Given the description of an element on the screen output the (x, y) to click on. 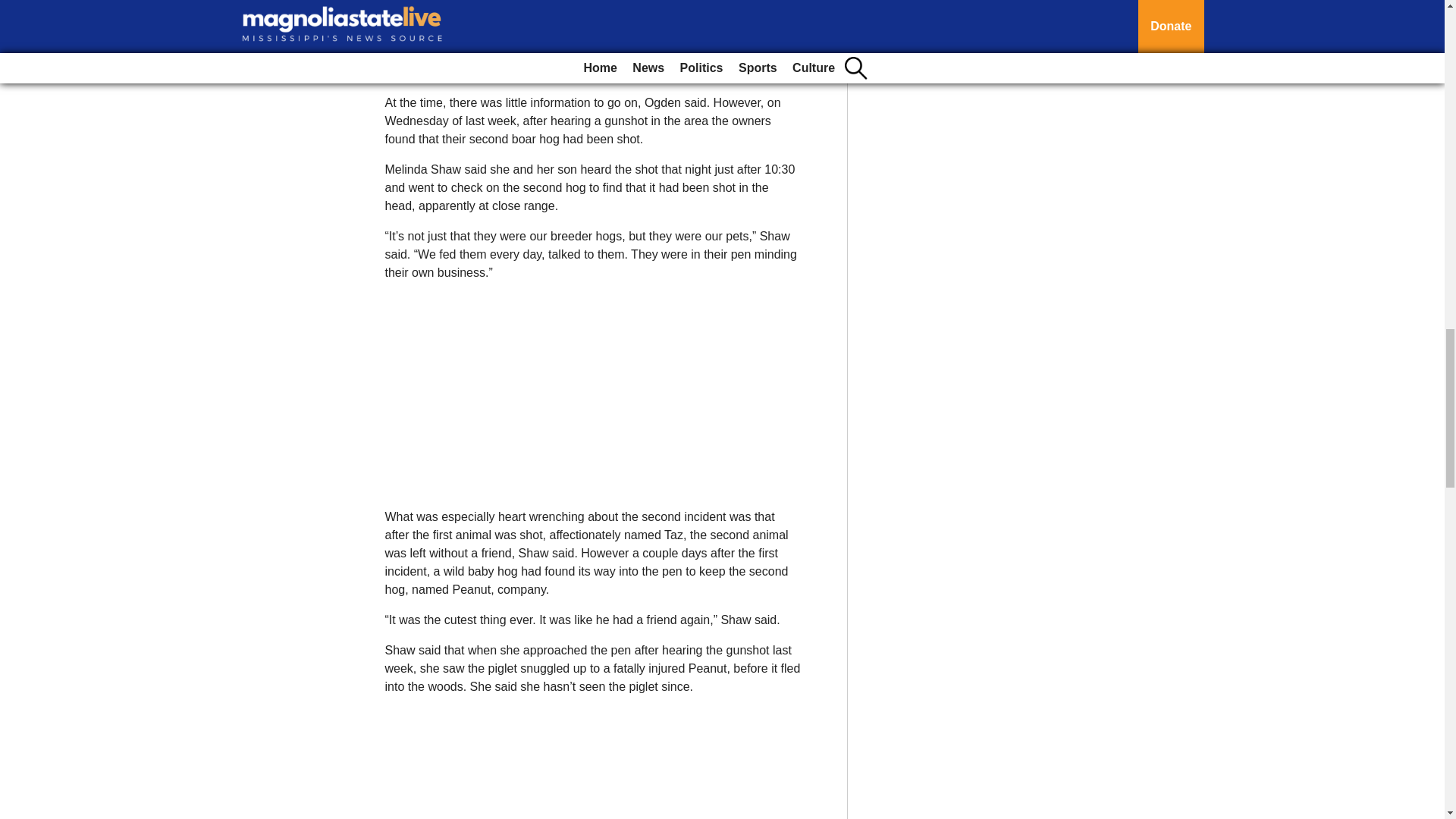
Subscribe (434, 53)
Subscribe (434, 53)
